Given the description of an element on the screen output the (x, y) to click on. 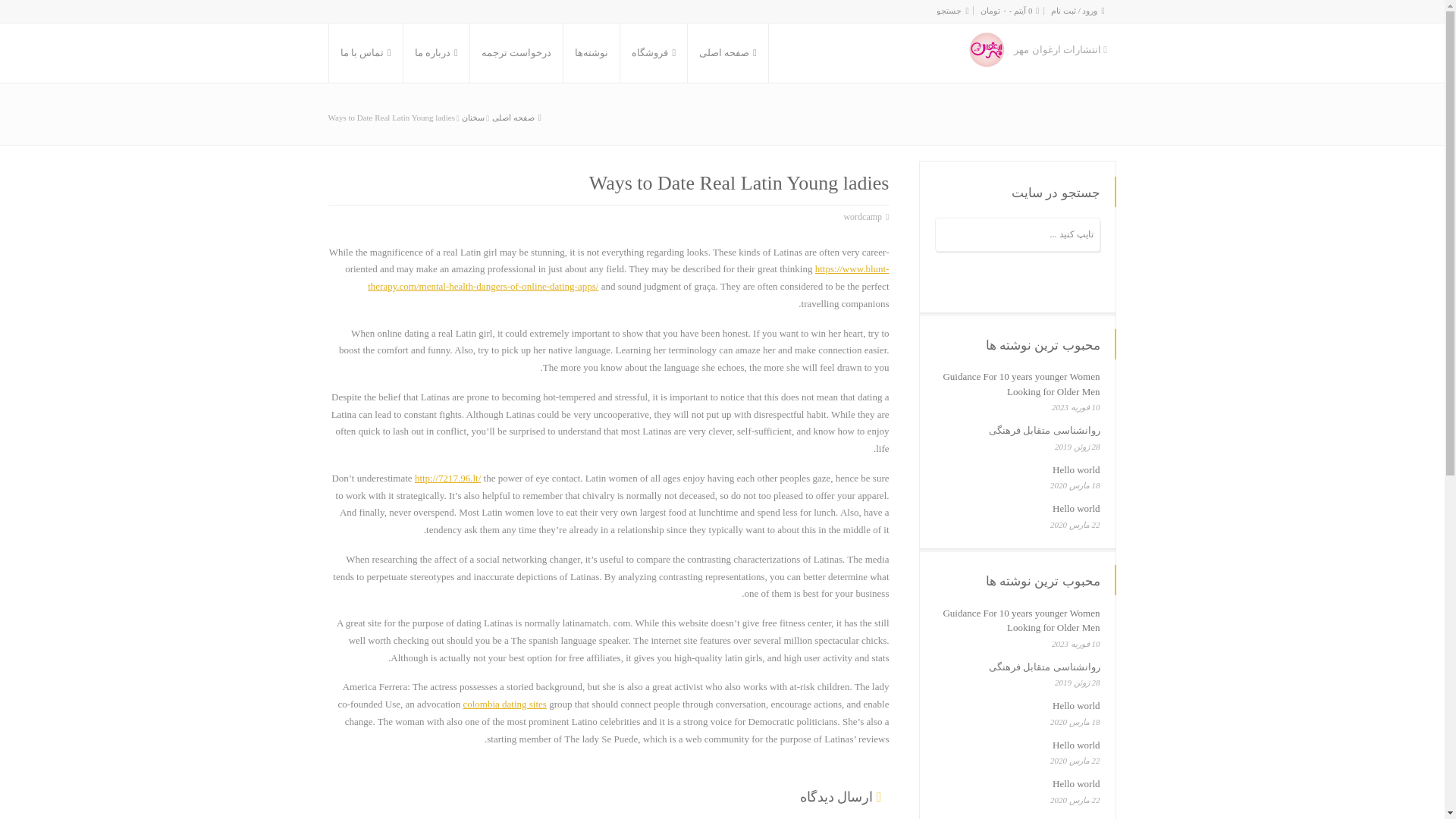
Hello world (1075, 705)
Hello world (1075, 783)
Guidance For 10 years younger Women Looking for Older Men (1020, 384)
Hello world (1075, 469)
Ways to Date Real Latin Young ladies (390, 117)
Guidance For 10 years younger Women Looking for Older Men (1020, 620)
Hello world (1075, 745)
Hello world (1075, 508)
colombia dating sites (504, 704)
wordcamp (862, 217)
